Given the description of an element on the screen output the (x, y) to click on. 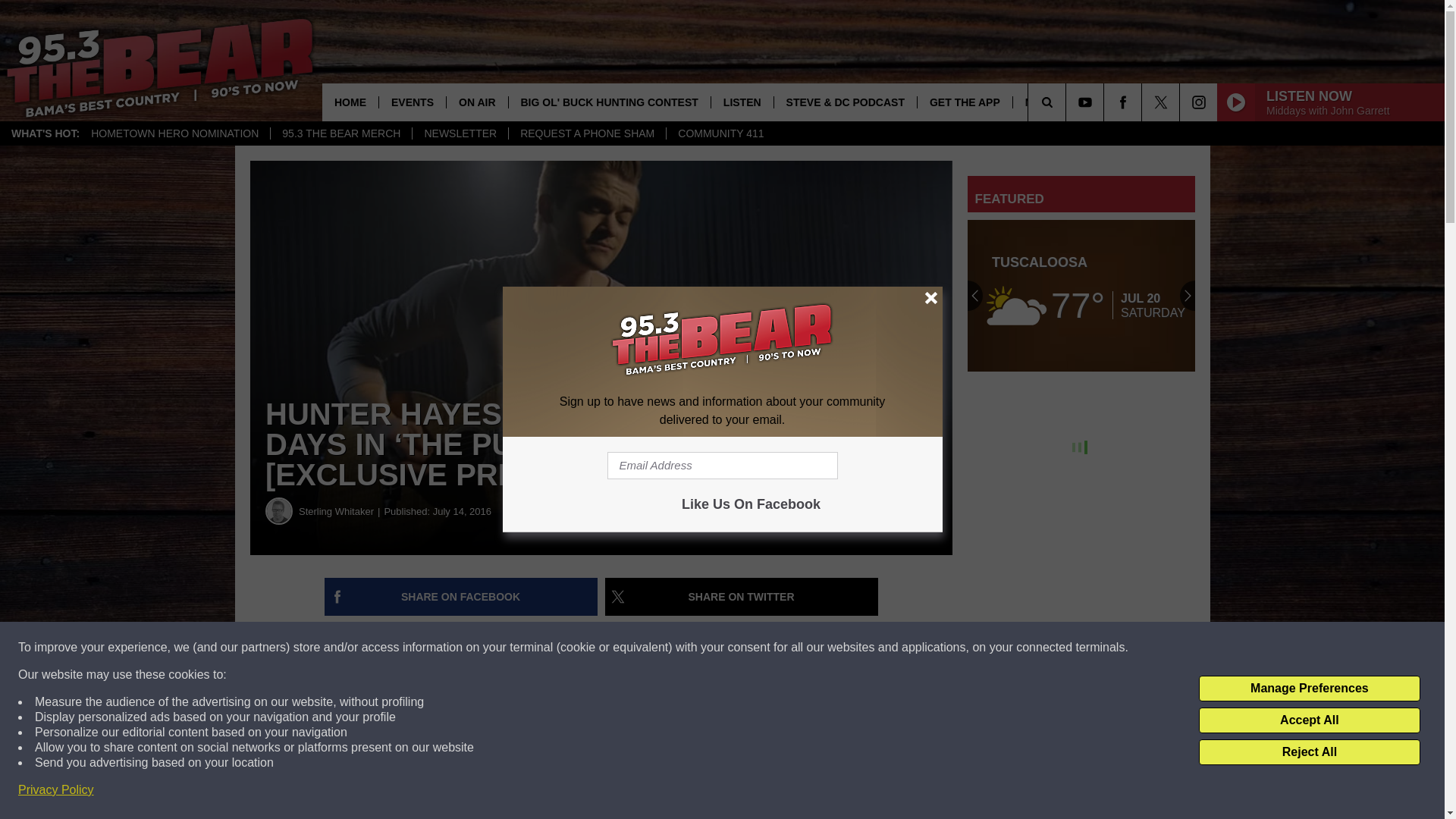
HOME (349, 102)
Share on Facebook (460, 596)
LISTEN (741, 102)
EVENTS (411, 102)
Privacy Policy (55, 789)
Manage Preferences (1309, 688)
Accept All (1309, 720)
ON AIR (475, 102)
95.3 THE BEAR MERCH (340, 133)
NEWSLETTER (460, 133)
Tuscaloosa Weather (1081, 295)
Share on Twitter (741, 596)
SEARCH (1068, 102)
GET THE APP (964, 102)
BIG OL' BUCK HUNTING CONTEST (609, 102)
